Given the description of an element on the screen output the (x, y) to click on. 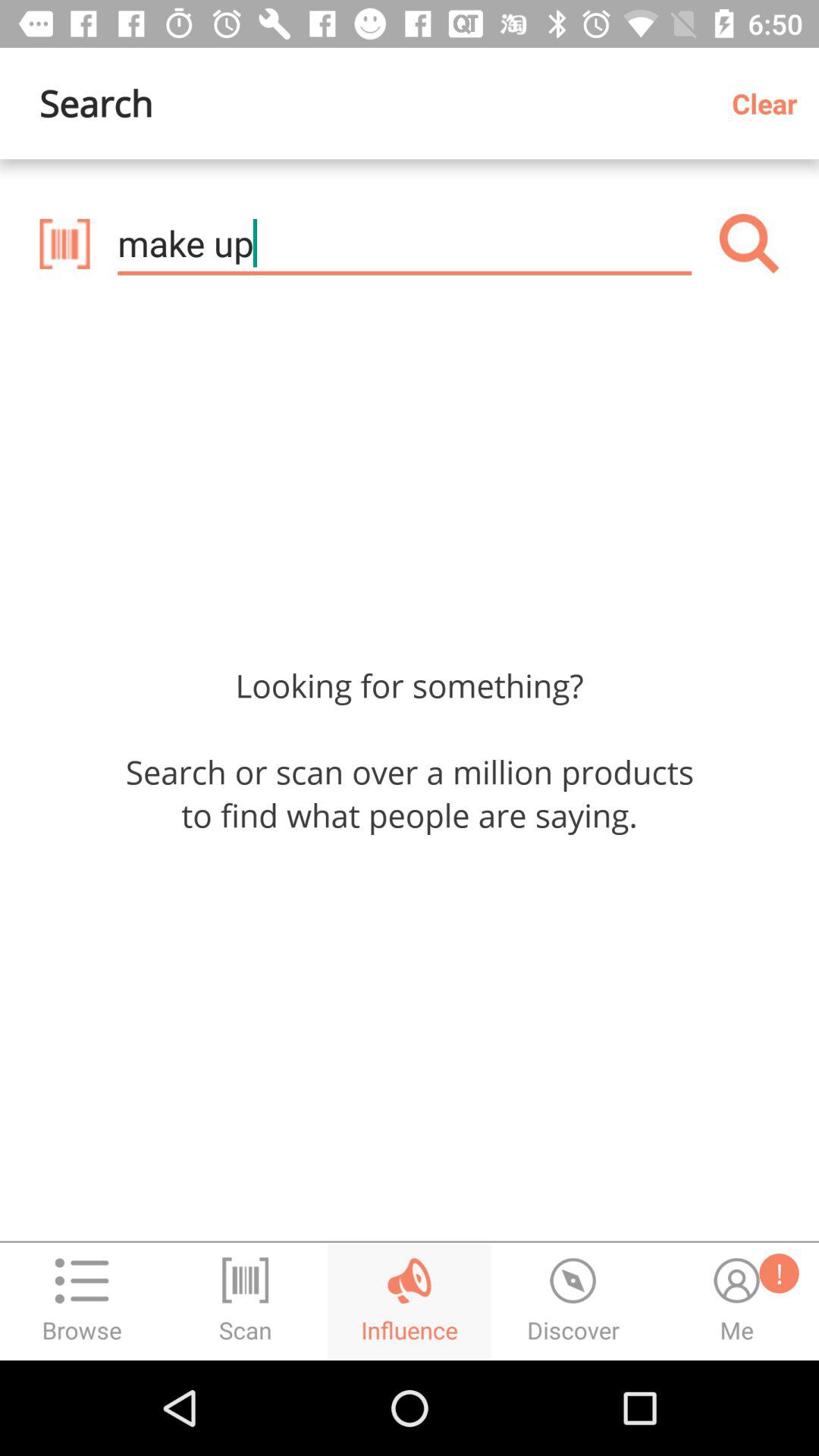
swipe to the make up icon (404, 243)
